Given the description of an element on the screen output the (x, y) to click on. 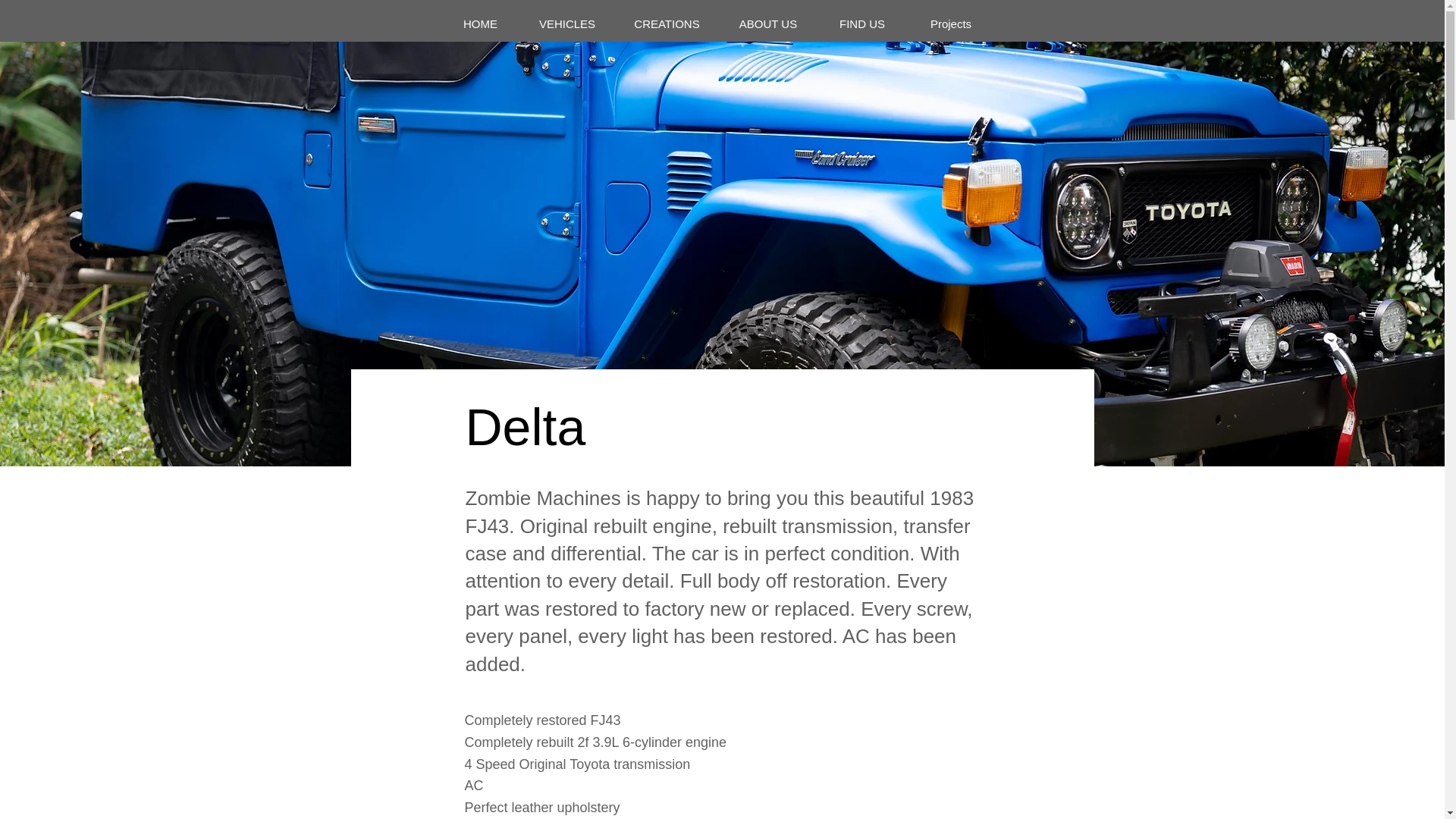
VEHICLES (566, 24)
HOME (479, 24)
FIND US (860, 24)
CREATIONS (667, 24)
Projects (951, 24)
ABOUT US (768, 24)
